Given the description of an element on the screen output the (x, y) to click on. 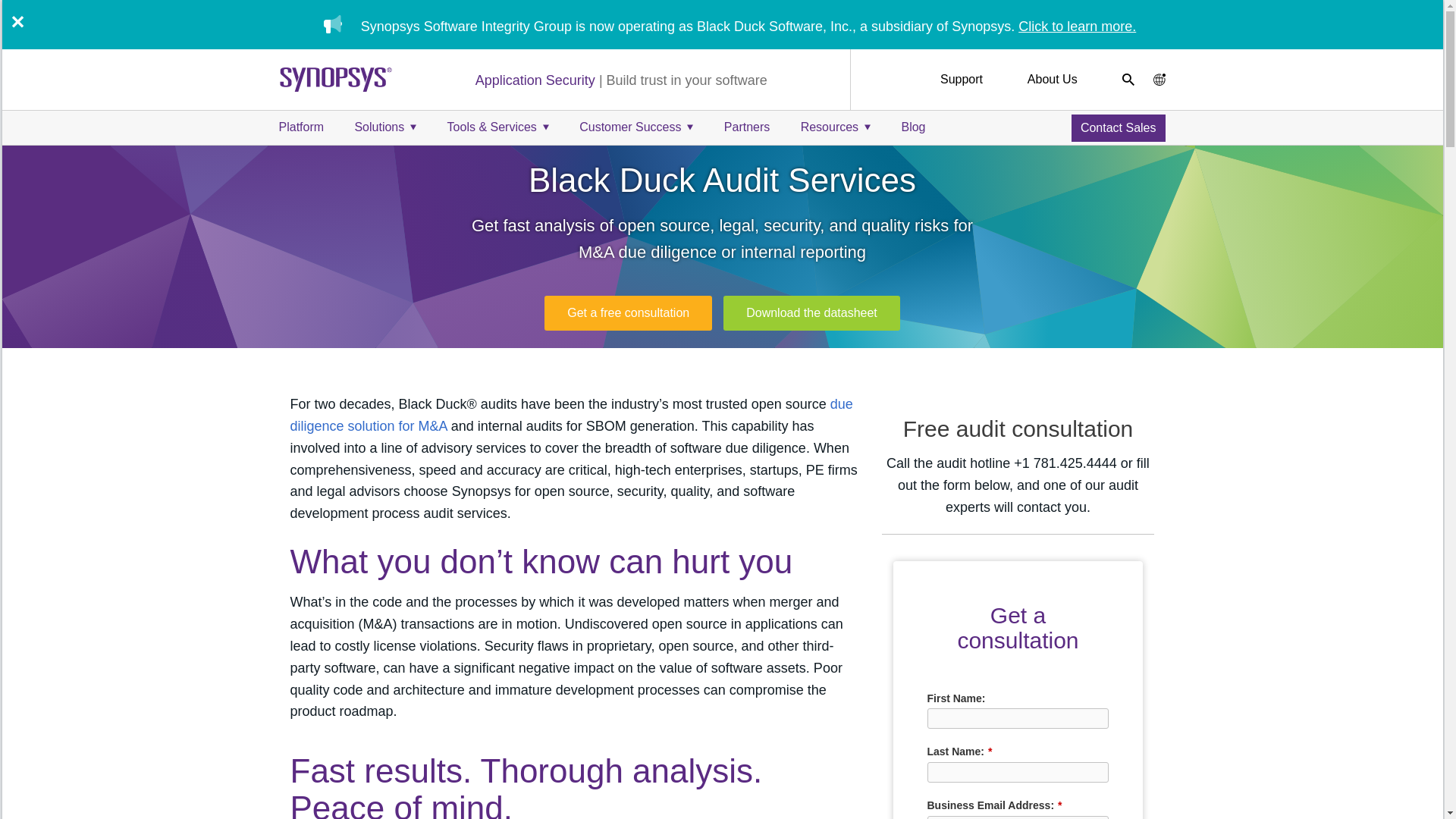
Blog (912, 126)
Resources (835, 126)
Click to learn more. (1076, 26)
Customer Success (636, 126)
Partners (746, 126)
Platform (301, 126)
Contact Sales (1118, 127)
Support (961, 78)
About Us (1052, 78)
Solutions (384, 126)
